Given the description of an element on the screen output the (x, y) to click on. 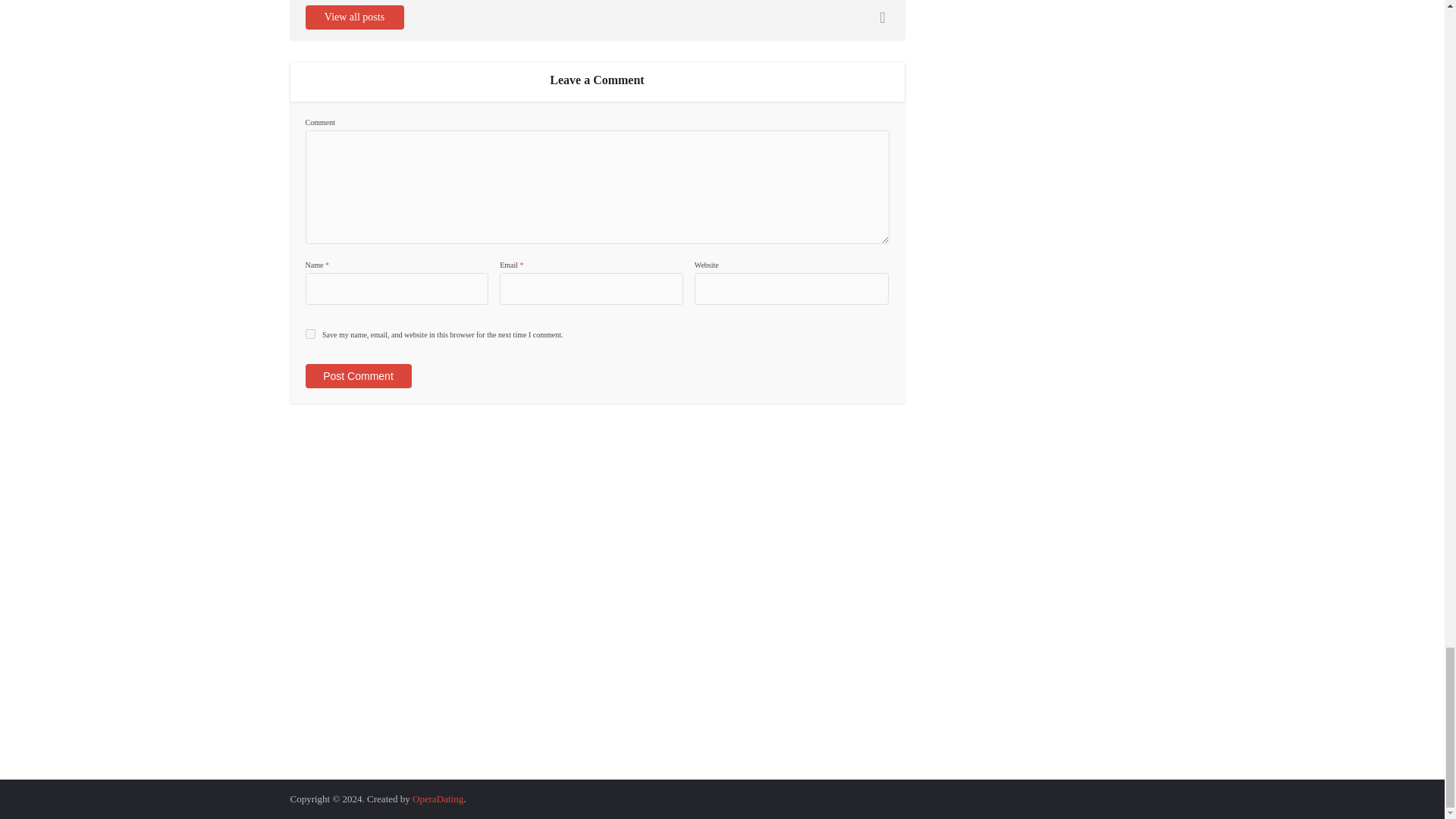
Post Comment (357, 375)
yes (309, 334)
View all posts (353, 16)
